Given the description of an element on the screen output the (x, y) to click on. 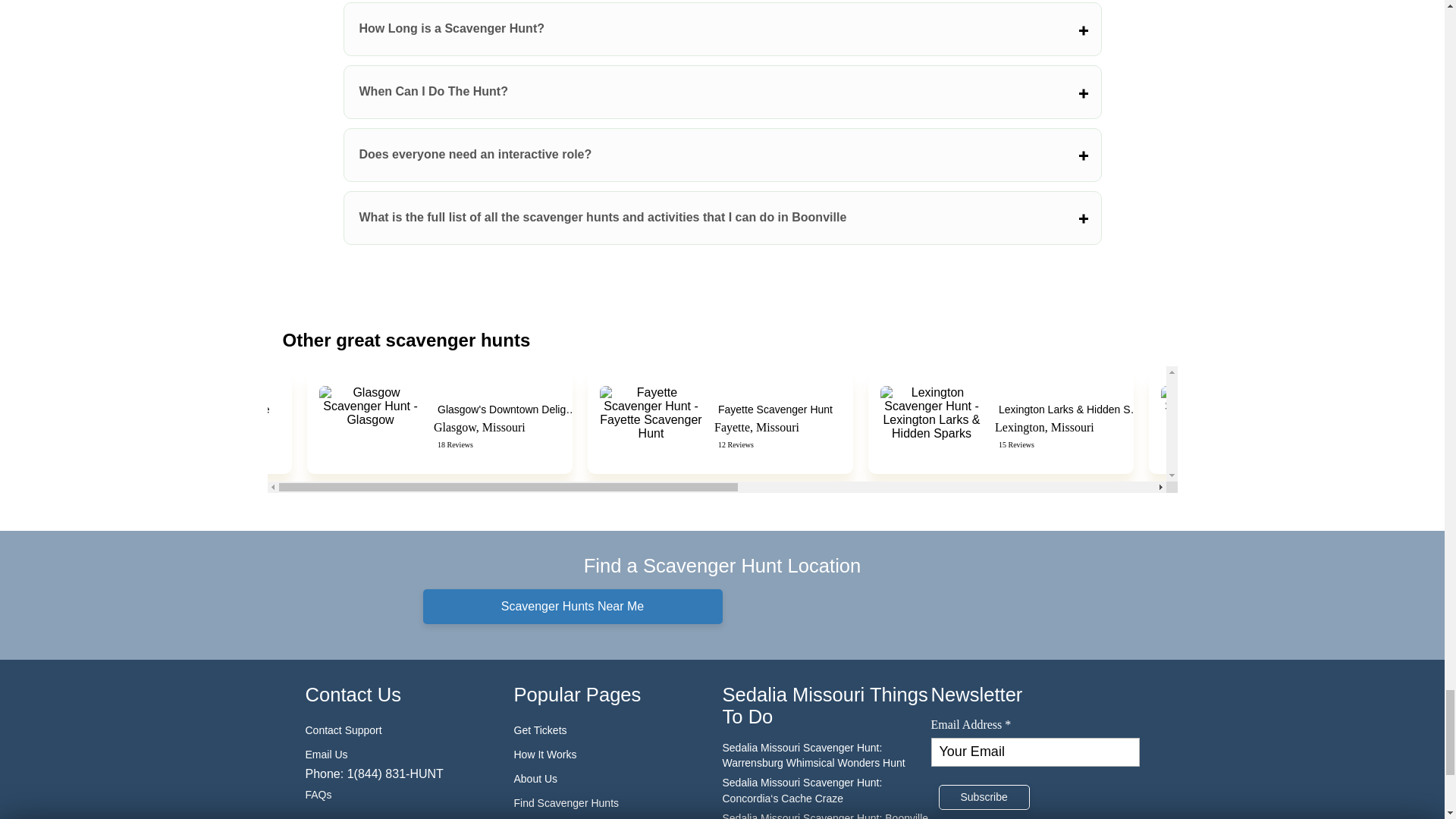
Subscribe (984, 797)
